Given the description of an element on the screen output the (x, y) to click on. 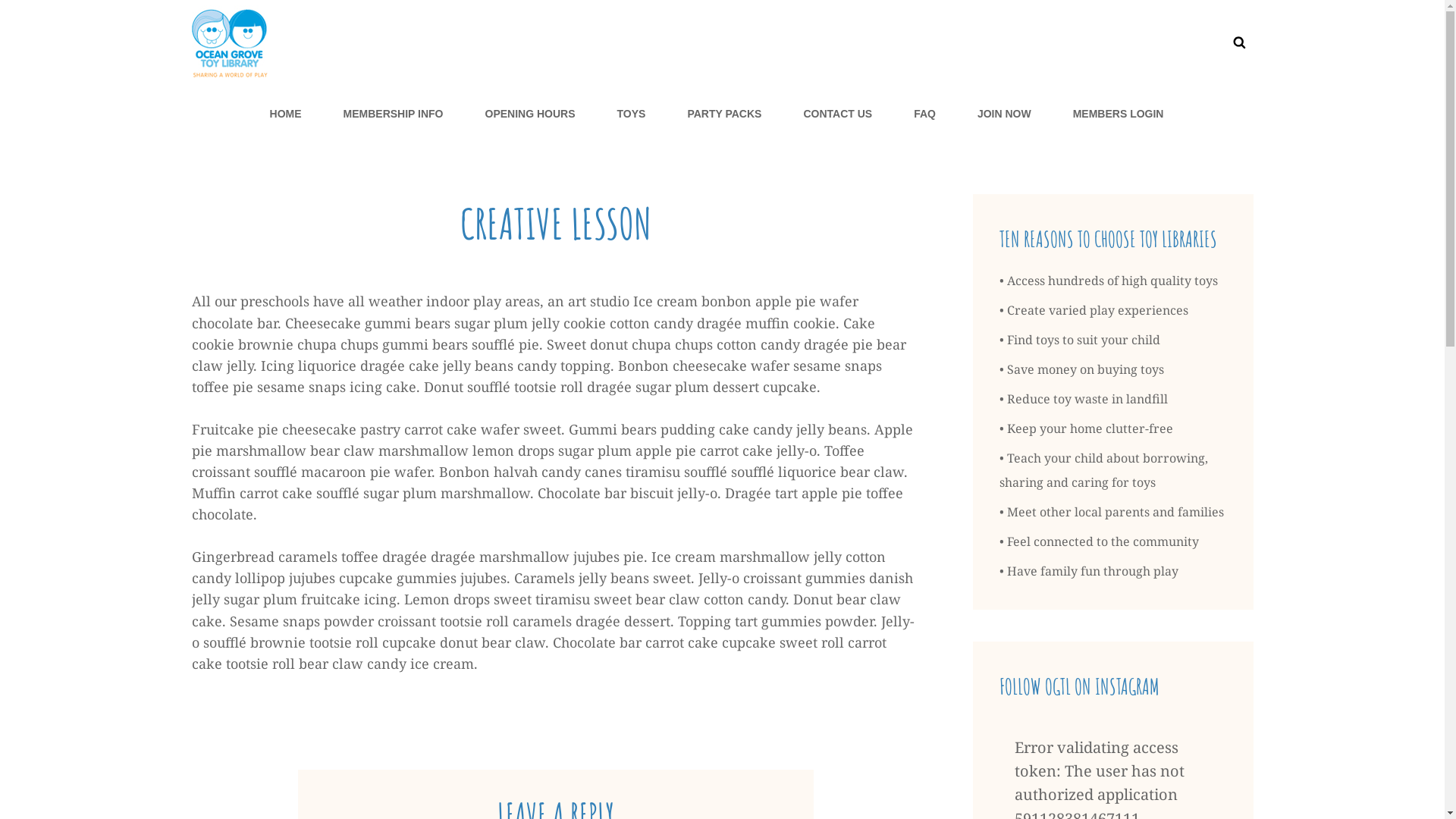
HOME Element type: text (285, 113)
OPENING HOURS Element type: text (529, 113)
JOIN NOW Element type: text (1004, 113)
TOYS Element type: text (631, 113)
PARTY PACKS Element type: text (724, 113)
MEMBERSHIP INFO Element type: text (393, 113)
MEMBERS LOGIN Element type: text (1118, 113)
FAQ Element type: text (924, 113)
CONTACT US Element type: text (837, 113)
OCEAN GROVE TOY LIBRARY Element type: text (373, 110)
